Given the description of an element on the screen output the (x, y) to click on. 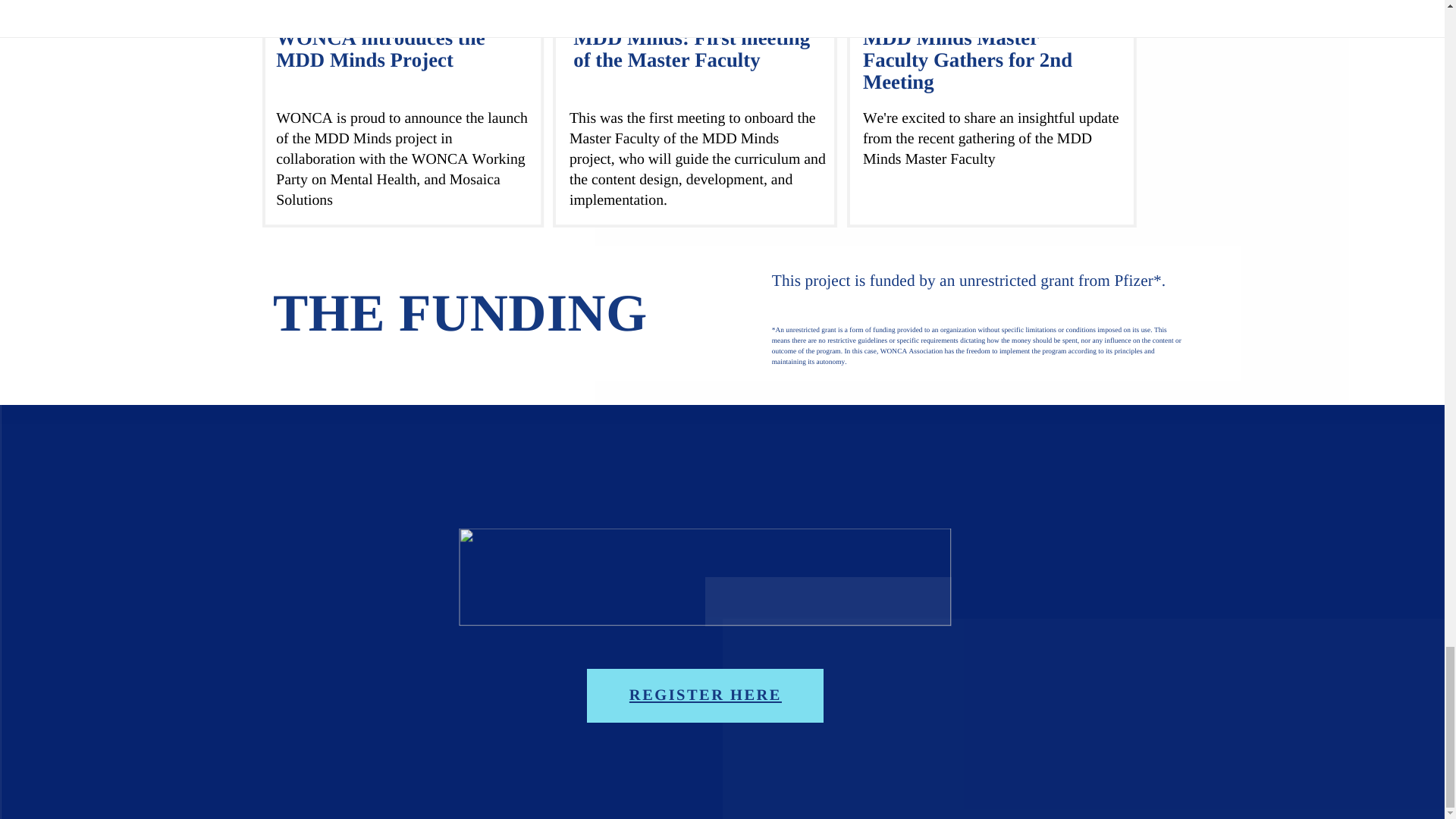
February, 2023 (322, 4)
WONCA introduces the MDD Minds Project (380, 48)
